Given the description of an element on the screen output the (x, y) to click on. 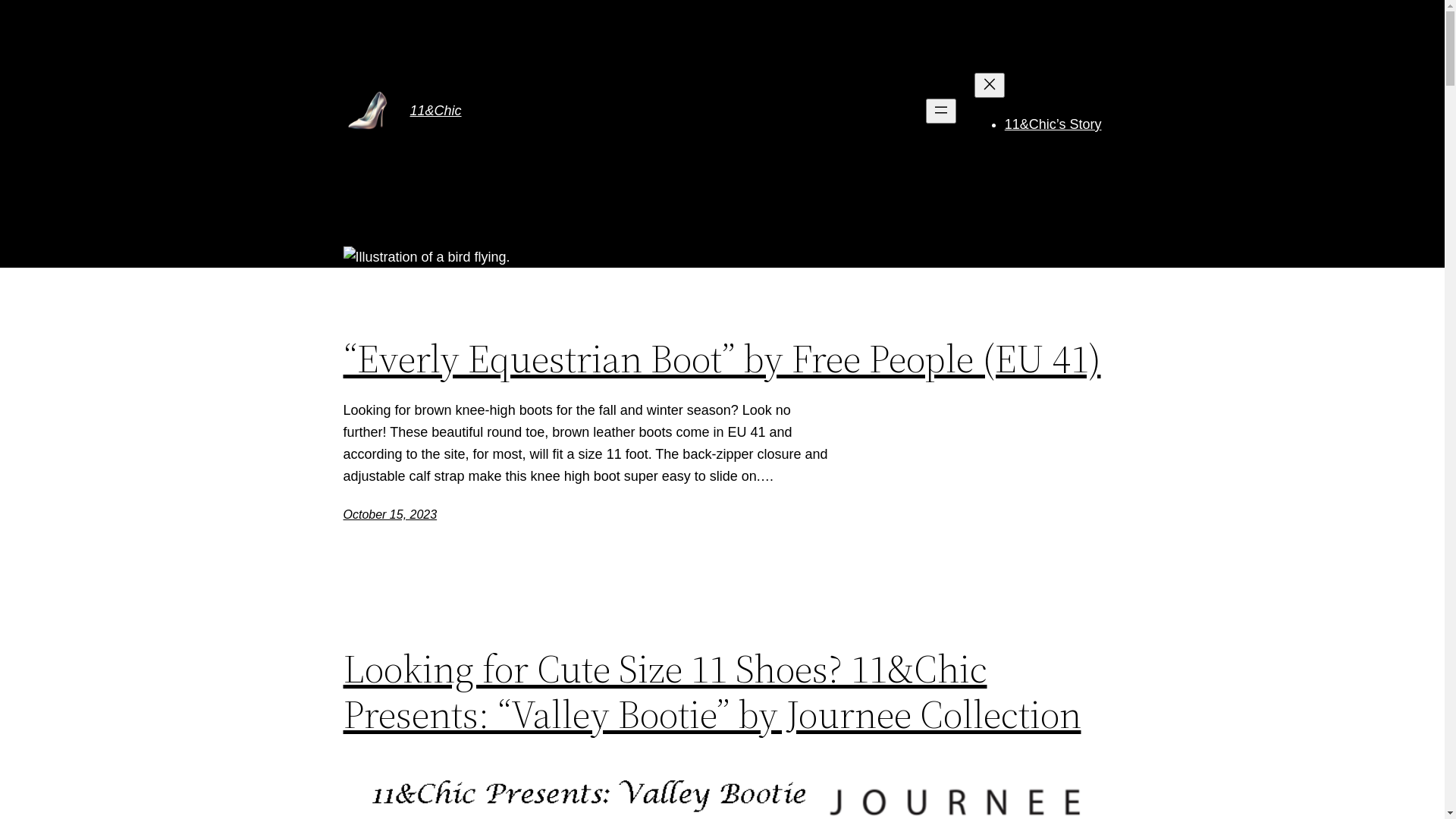
11&Chic Element type: text (435, 110)
October 15, 2023 Element type: text (389, 514)
